Given the description of an element on the screen output the (x, y) to click on. 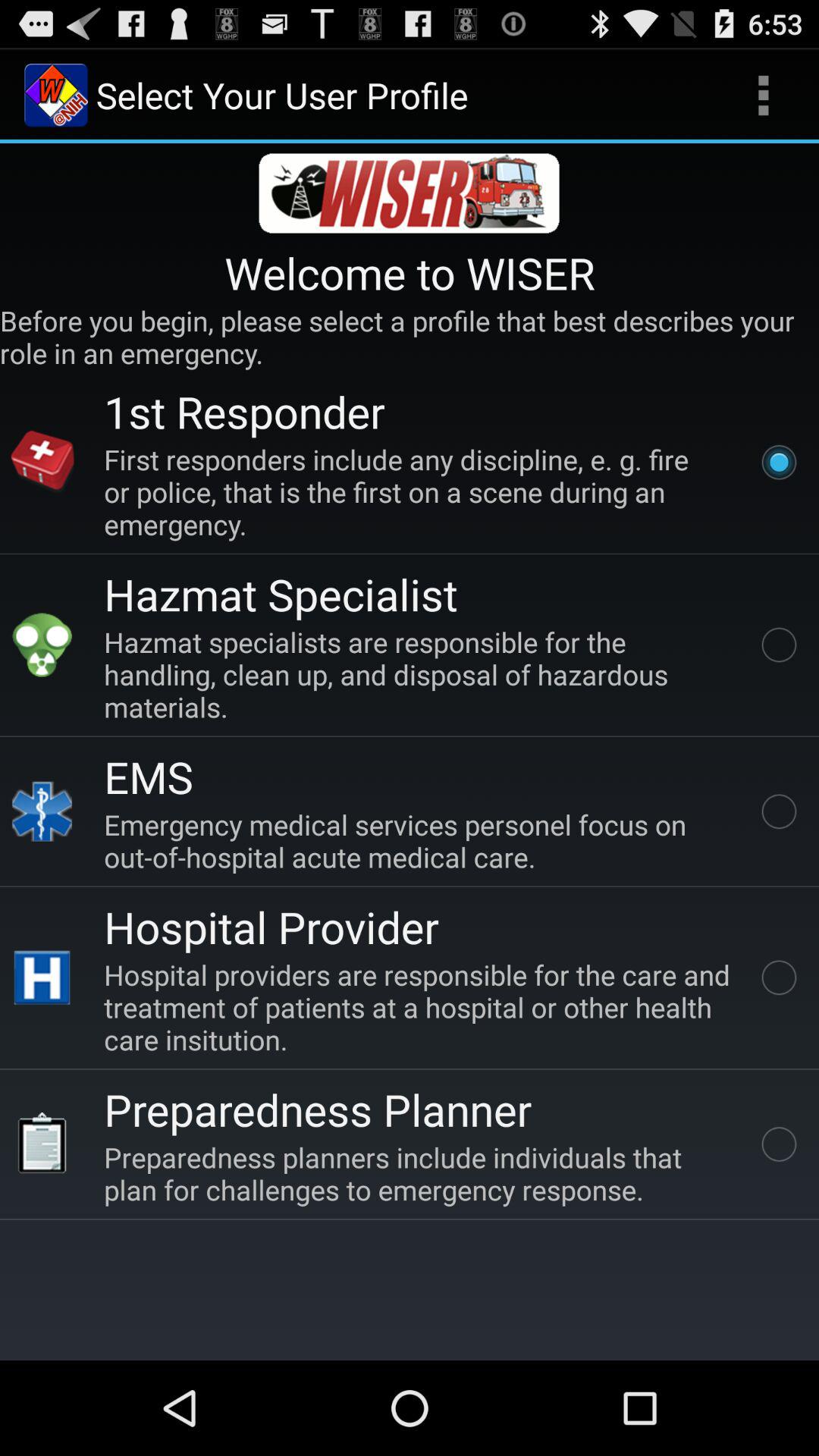
launch the app above the first responders include icon (244, 411)
